Given the description of an element on the screen output the (x, y) to click on. 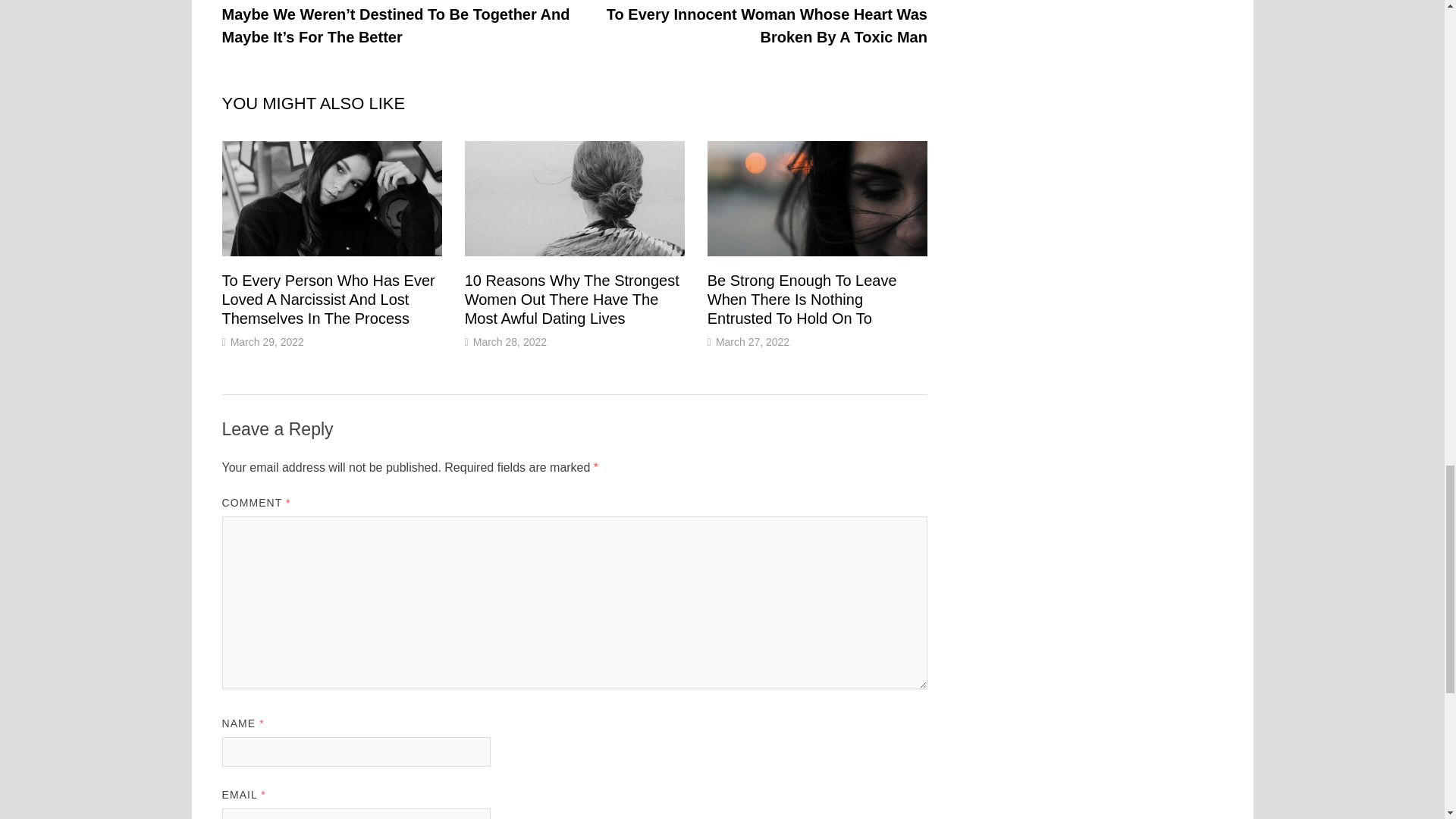
March 29, 2022 (267, 341)
March 28, 2022 (510, 341)
March 27, 2022 (752, 341)
